Given the description of an element on the screen output the (x, y) to click on. 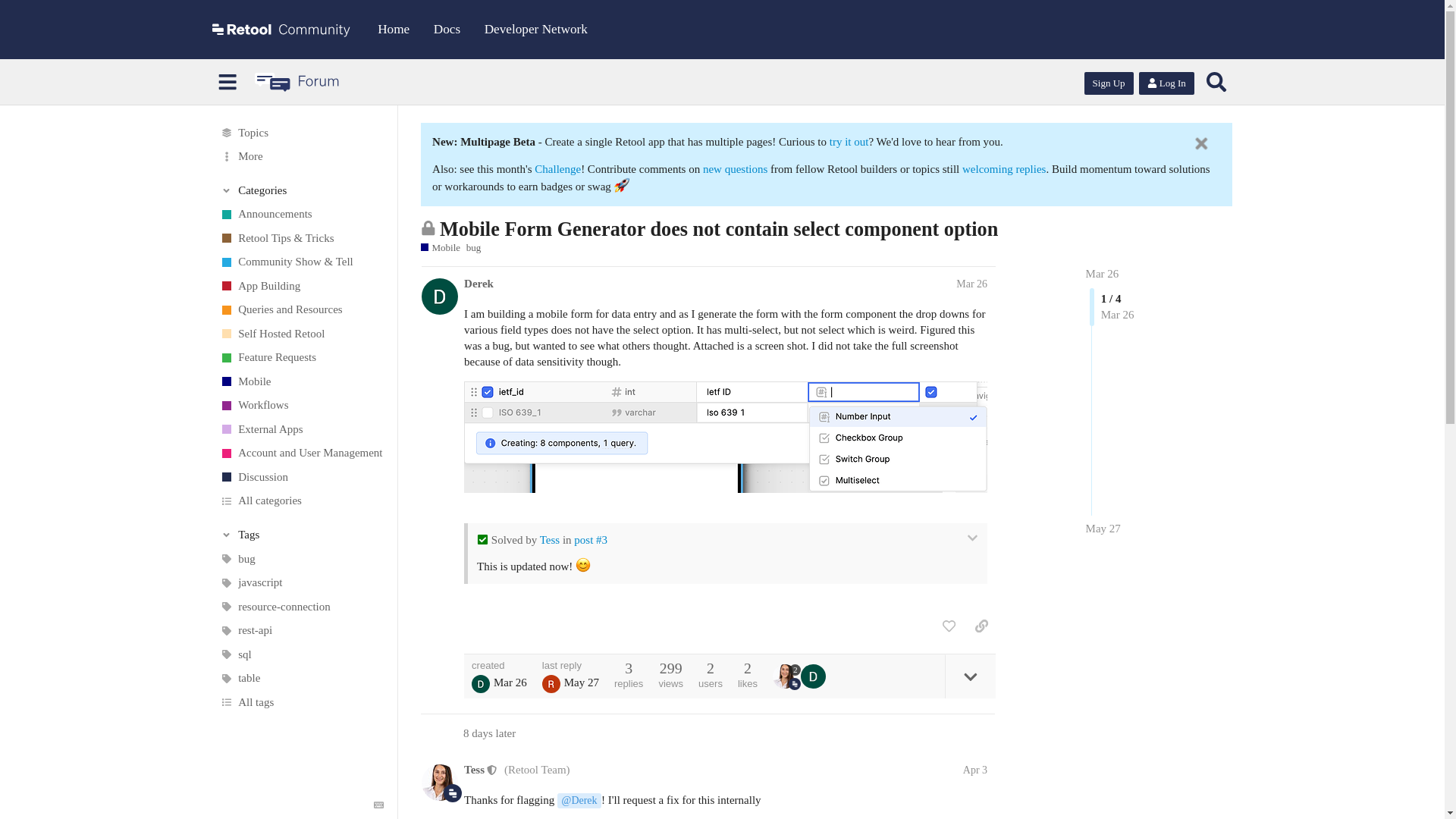
Challenge (557, 168)
All categories (301, 500)
table (301, 678)
Toggle section (301, 190)
Feature Requests (301, 357)
Developer Network (536, 29)
welcoming replies (1003, 168)
try it out (849, 141)
Sidebar (227, 81)
Toggle section (301, 534)
